Given the description of an element on the screen output the (x, y) to click on. 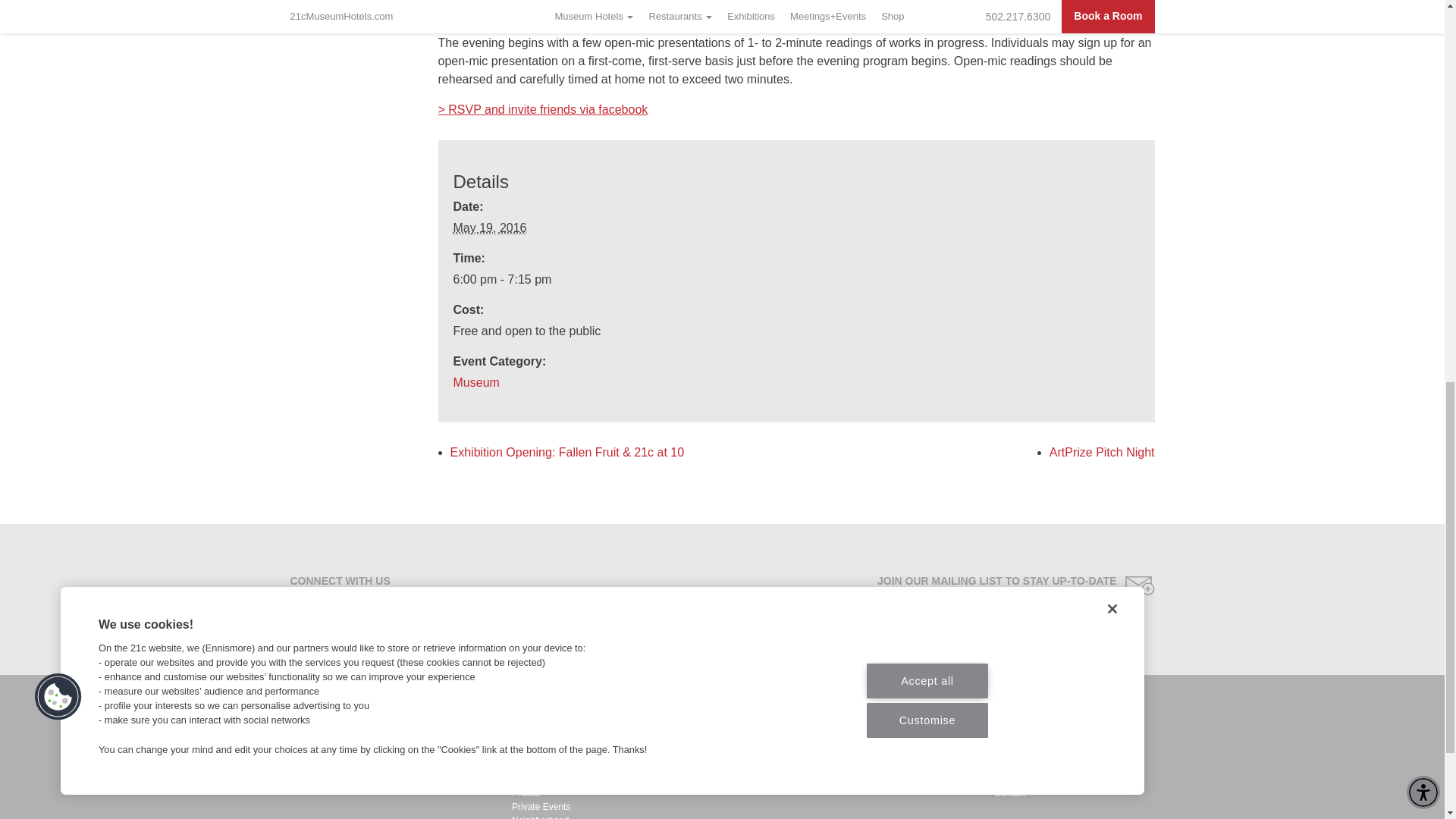
2016-05-19 (489, 228)
2016-05-19 (786, 280)
